Given the description of an element on the screen output the (x, y) to click on. 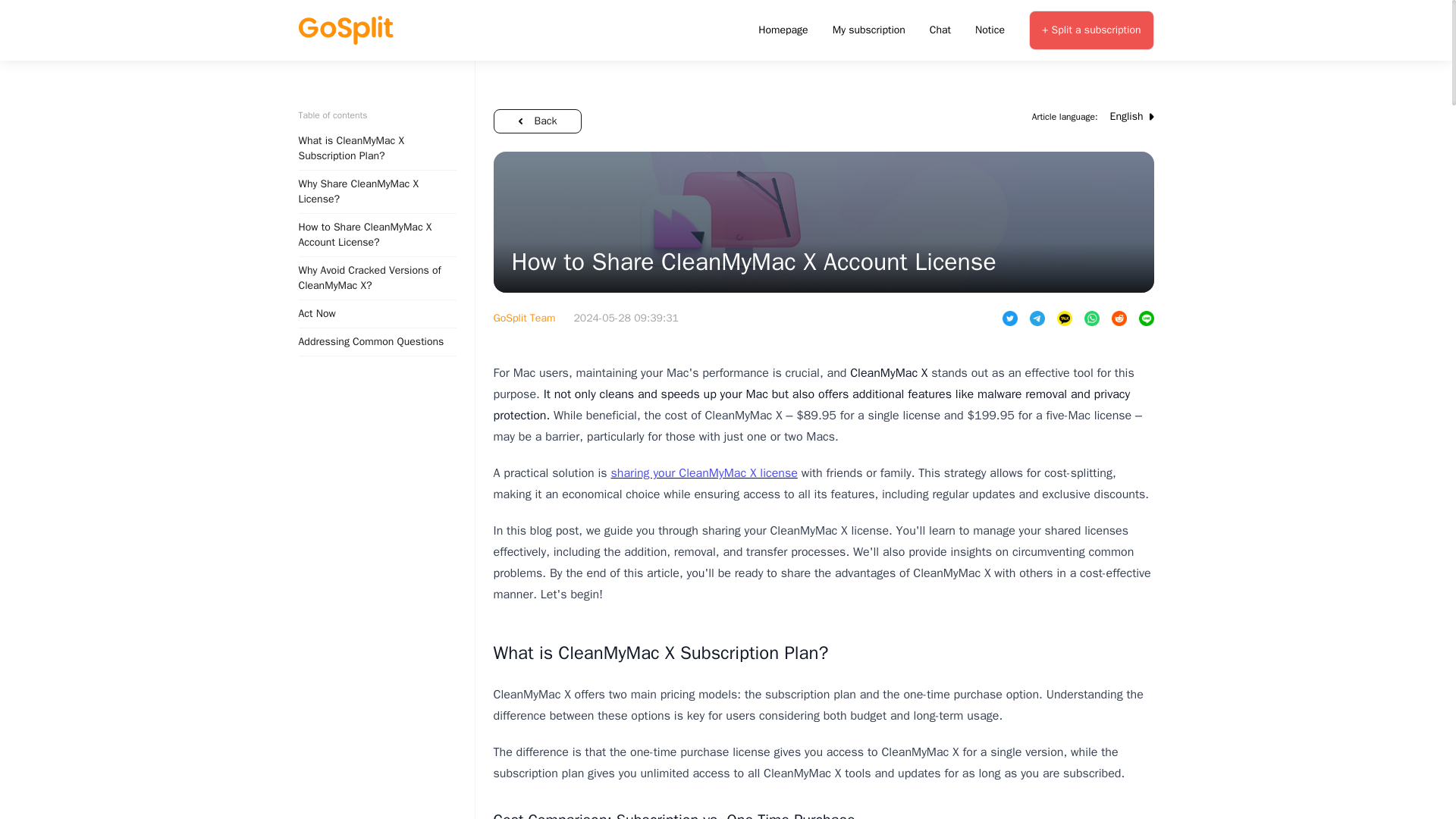
Act Now (377, 314)
Why Share CleanMyMac X License? (377, 191)
sharing your CleanMyMac X license (703, 473)
How to Share CleanMyMac X Account License? (377, 235)
Chat (940, 29)
Back (536, 120)
Notice (989, 29)
English (1131, 116)
Addressing Common Questions (377, 342)
What is CleanMyMac X Subscription Plan? (660, 652)
Why Avoid Cracked Versions of CleanMyMac X? (377, 278)
What is CleanMyMac X Subscription Plan? (377, 148)
My subscription (868, 29)
Homepage (783, 29)
